Given the description of an element on the screen output the (x, y) to click on. 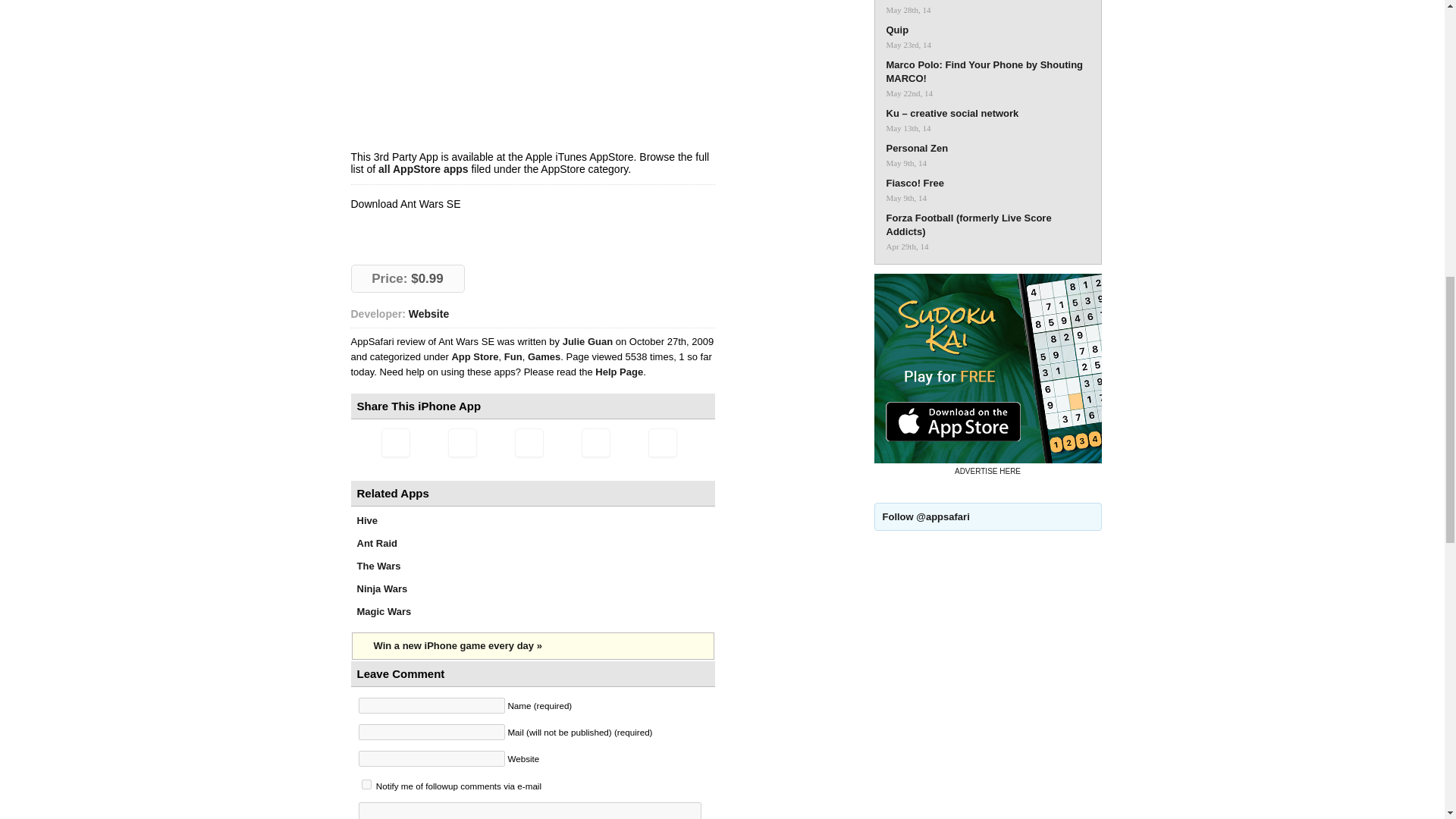
Julie Guan (588, 341)
Tweet this iPhone app review (461, 442)
Email this app to a friend! (394, 442)
all AppStore apps (423, 168)
del.icio.us (595, 442)
Website (428, 313)
Tweet this iPhone app review (461, 442)
Ninja Wars (381, 588)
subscribe (366, 784)
Facebook (528, 442)
Hive (366, 520)
Ant Raid (376, 542)
Email this app to a friend! (394, 442)
Magic Wars (383, 611)
The Wars (378, 565)
